Given the description of an element on the screen output the (x, y) to click on. 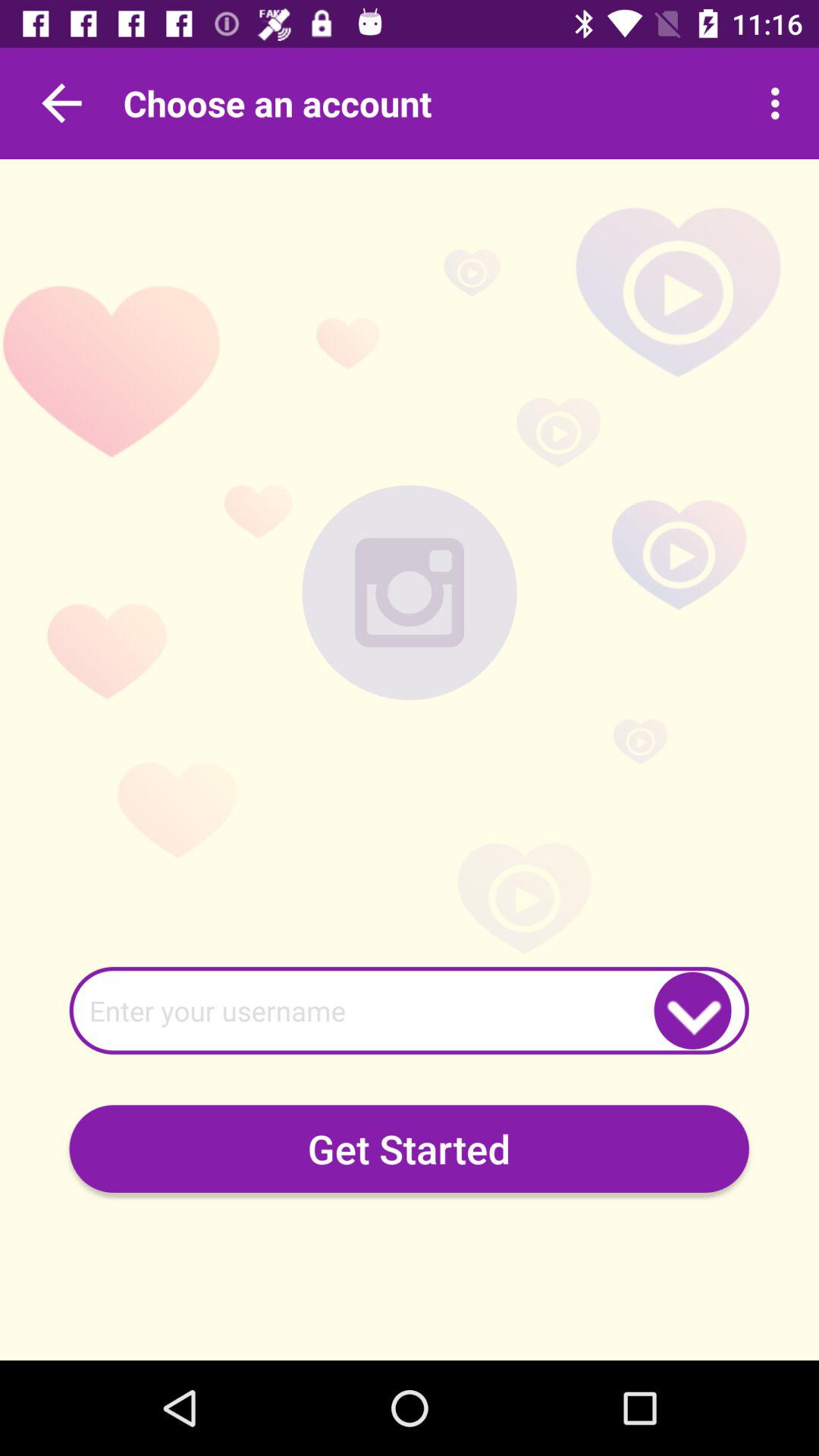
enter username (409, 1010)
